Given the description of an element on the screen output the (x, y) to click on. 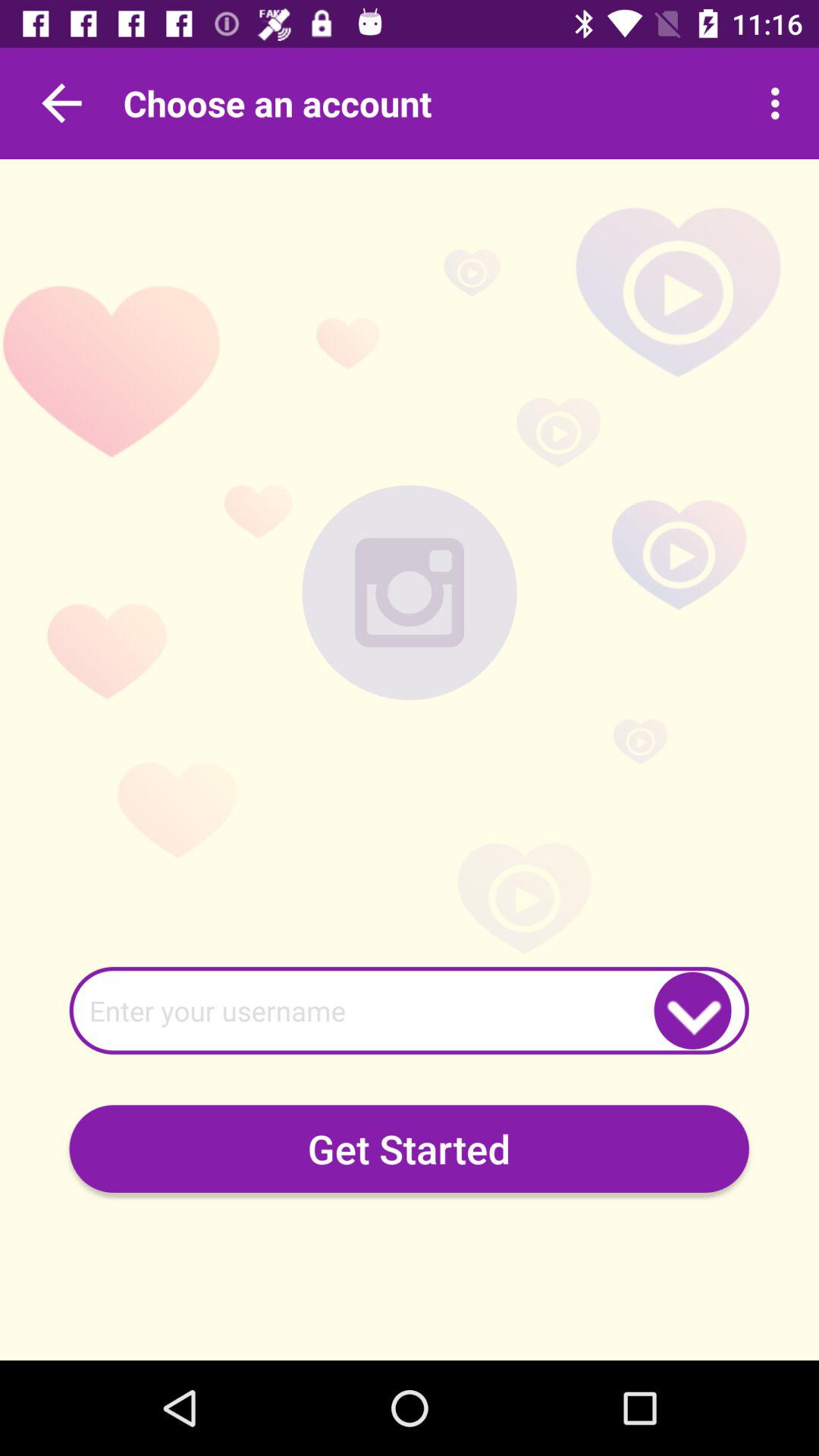
enter username (409, 1010)
